Given the description of an element on the screen output the (x, y) to click on. 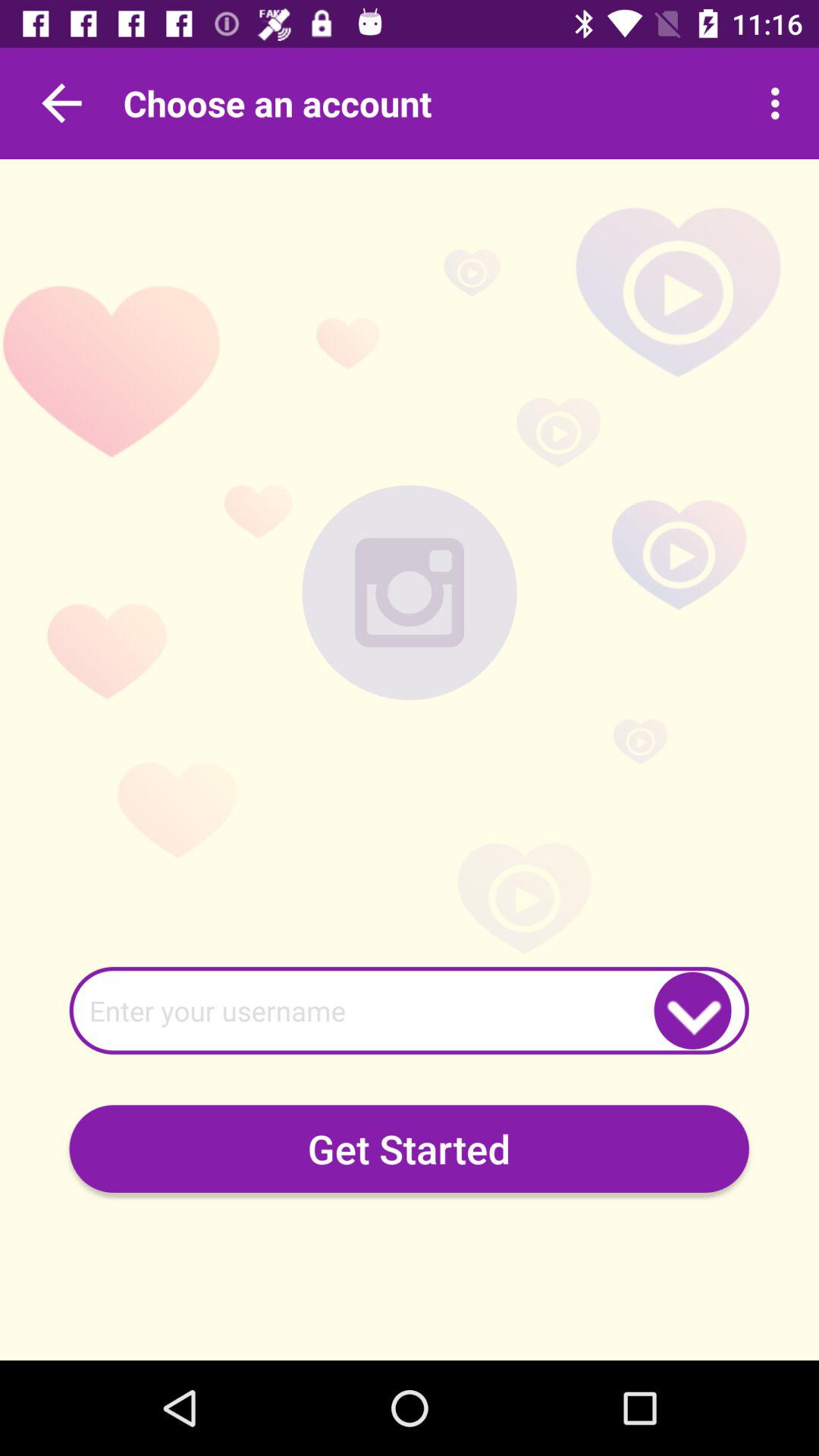
enter username (409, 1010)
